Given the description of an element on the screen output the (x, y) to click on. 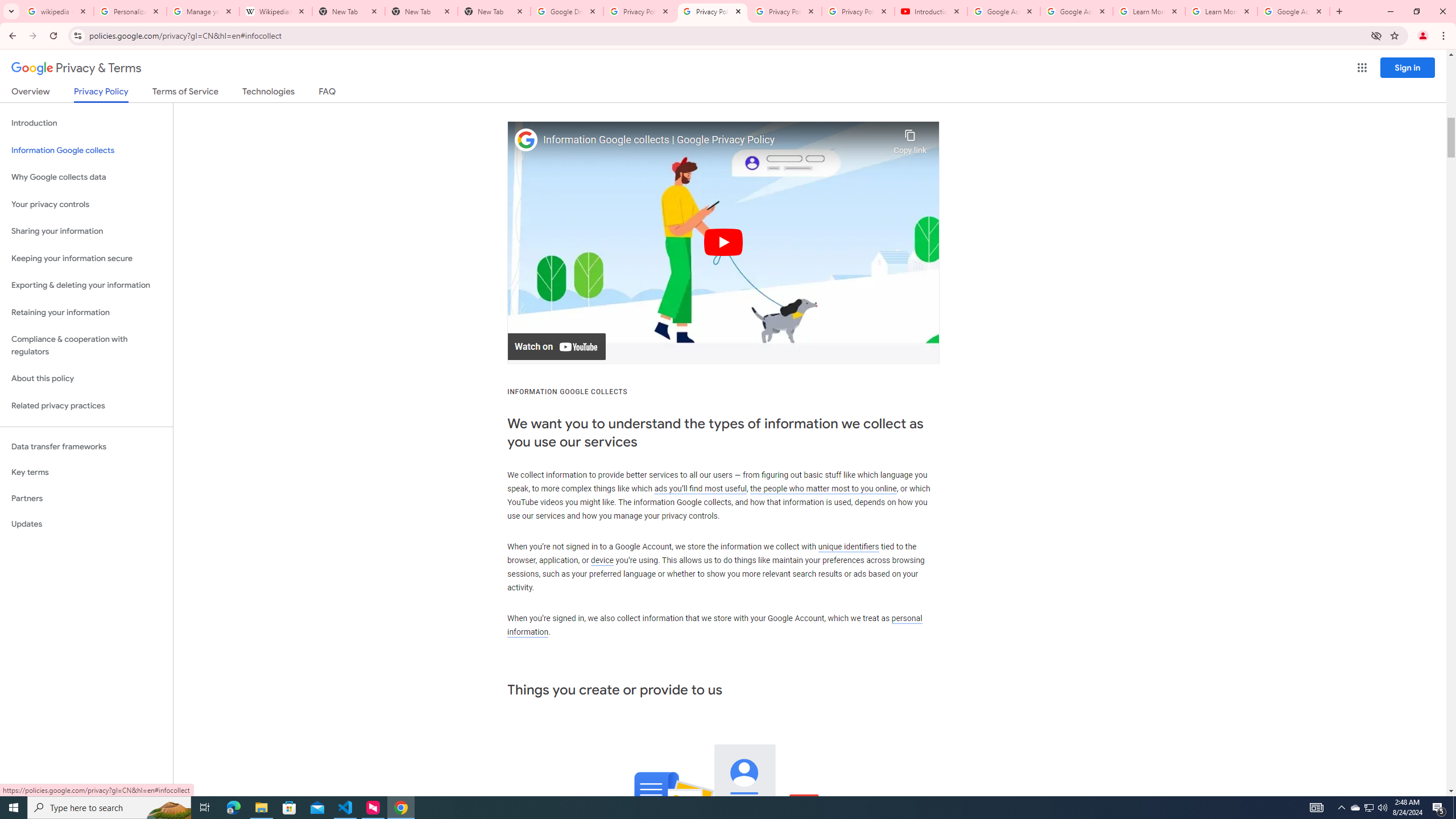
the people who matter most to you online (822, 488)
Keeping your information secure (86, 258)
Information Google collects | Google Privacy Policy (715, 140)
Photo image of Google (526, 139)
Manage your Location History - Google Search Help (202, 11)
